Given the description of an element on the screen output the (x, y) to click on. 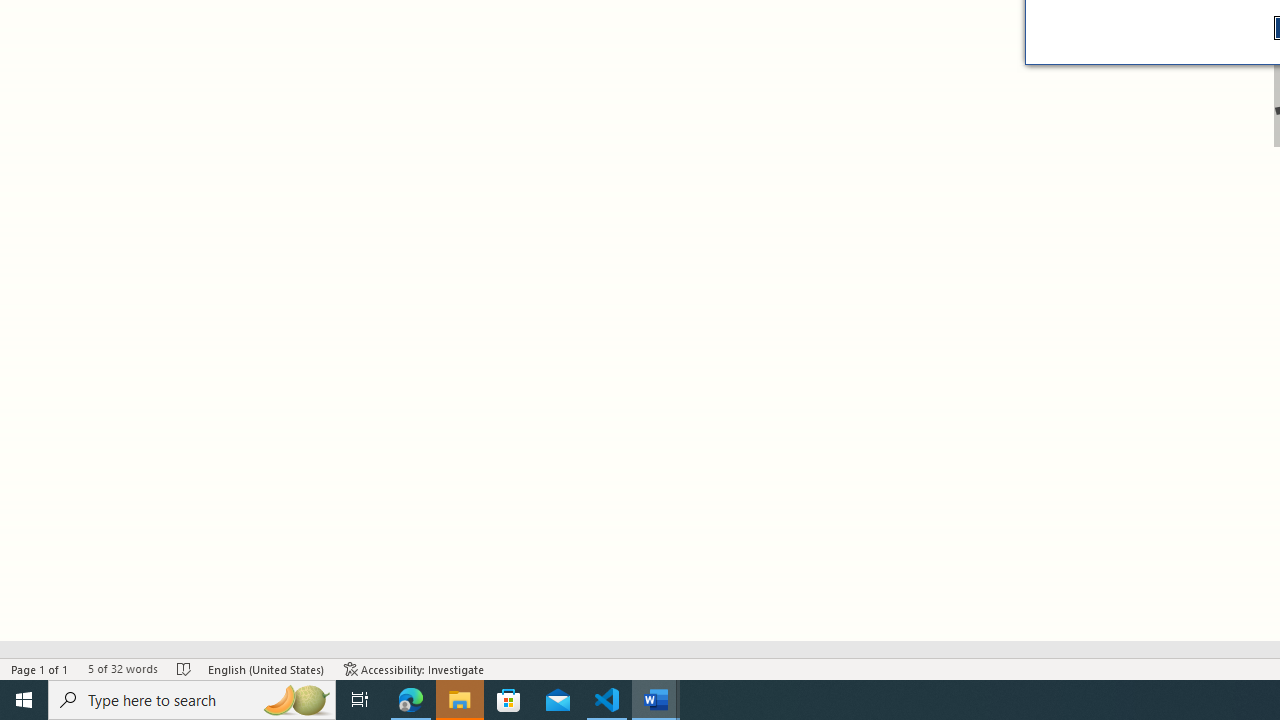
Visual Studio Code - 1 running window (607, 699)
Accessibility Checker Accessibility: Investigate (413, 668)
Spelling and Grammar Check No Errors (184, 668)
Word Count 5 of 32 words (122, 668)
Search highlights icon opens search home window (295, 699)
Page Number Page 1 of 1 (39, 668)
Word - 2 running windows (656, 699)
Microsoft Store (509, 699)
Microsoft Edge - 1 running window (411, 699)
Type here to search (191, 699)
Start (24, 699)
Task View (359, 699)
Language English (United States) (266, 668)
File Explorer - 1 running window (460, 699)
